Given the description of an element on the screen output the (x, y) to click on. 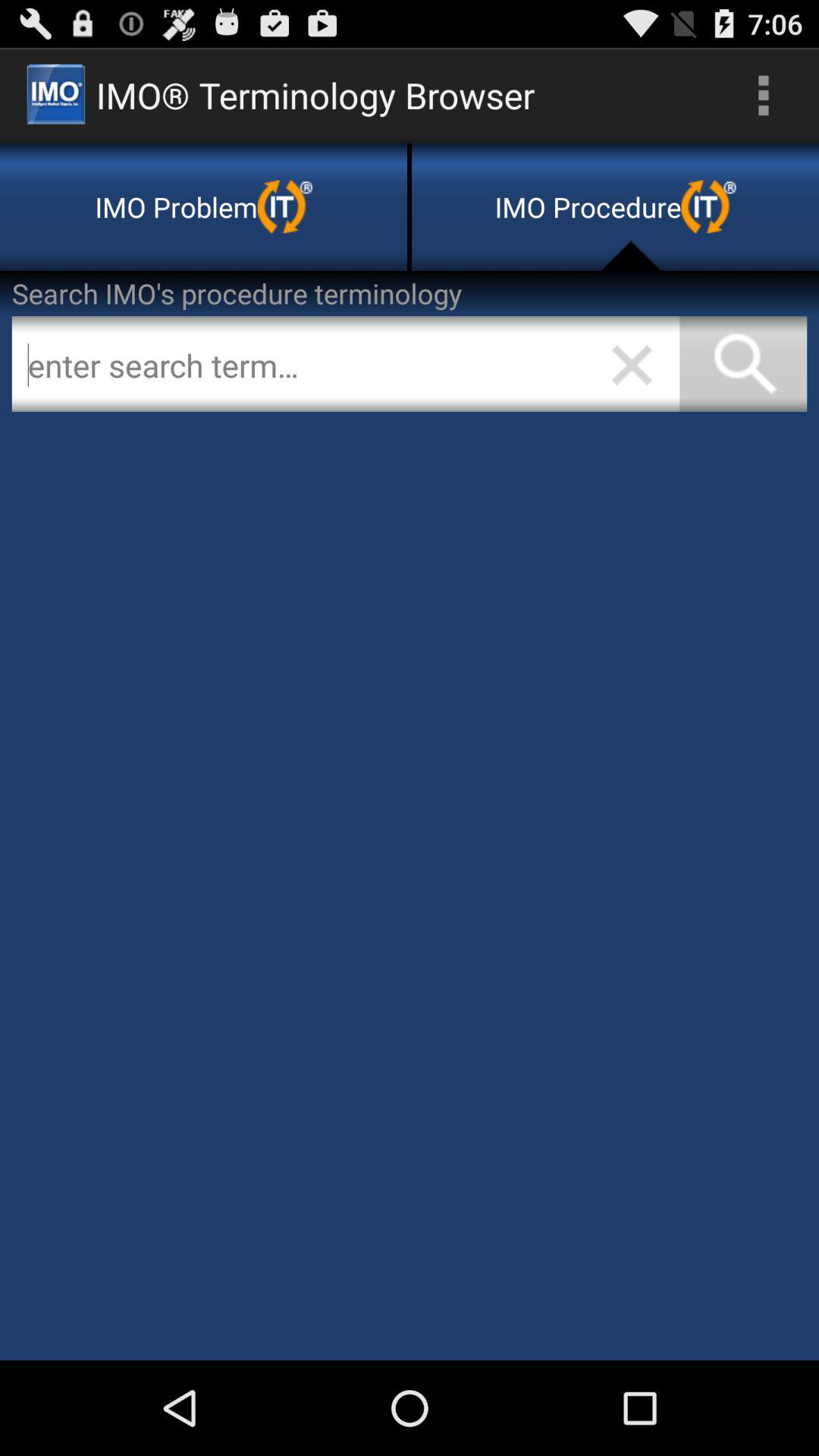
go to search (345, 363)
